Given the description of an element on the screen output the (x, y) to click on. 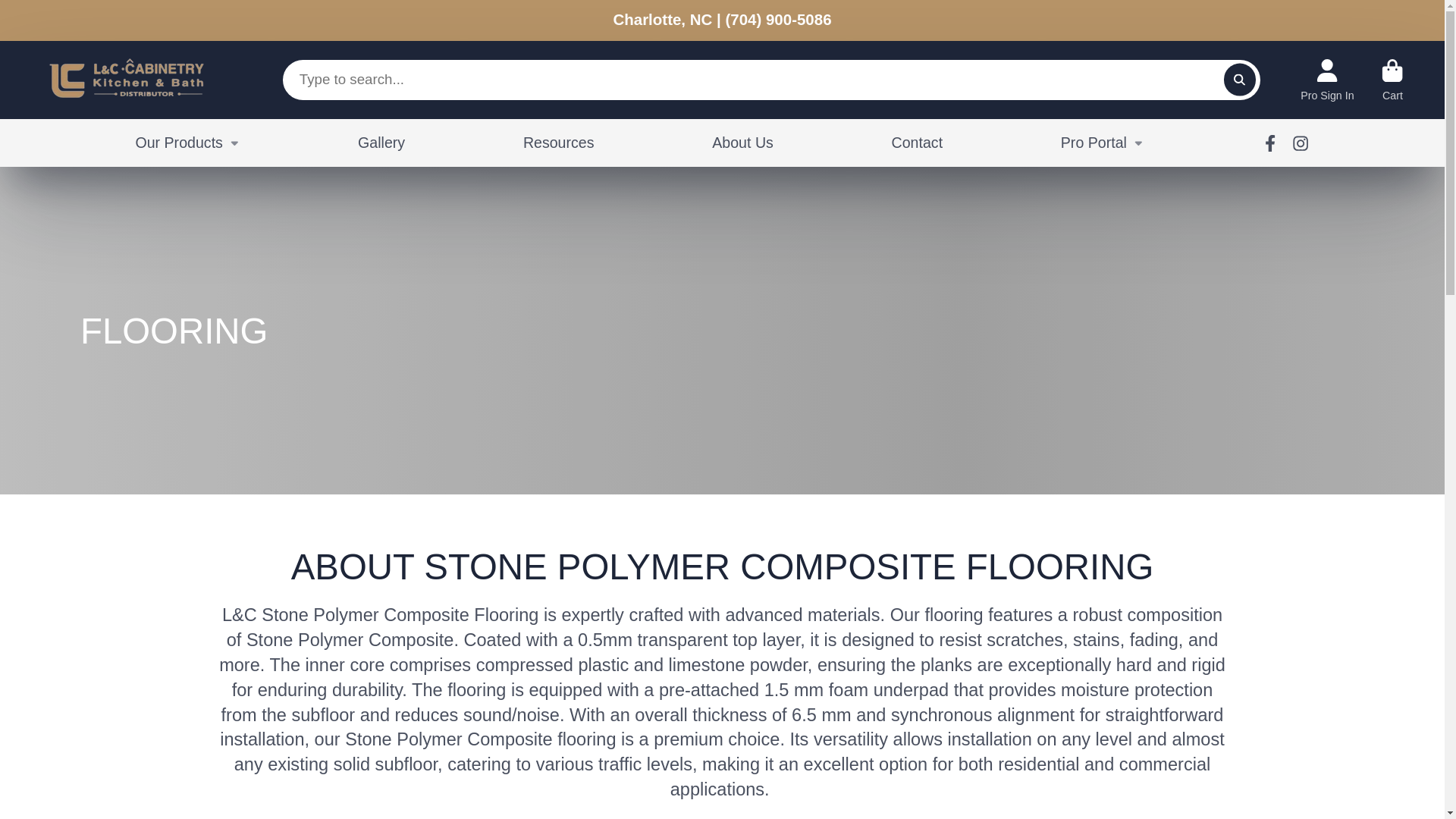
Pro Portal (1102, 142)
Account (1327, 79)
Facebook (1270, 143)
Contact (917, 142)
Instagram (1300, 143)
Resources (558, 142)
Our Products (187, 142)
Logo (127, 79)
Gallery (381, 142)
About Us (742, 142)
